Given the description of an element on the screen output the (x, y) to click on. 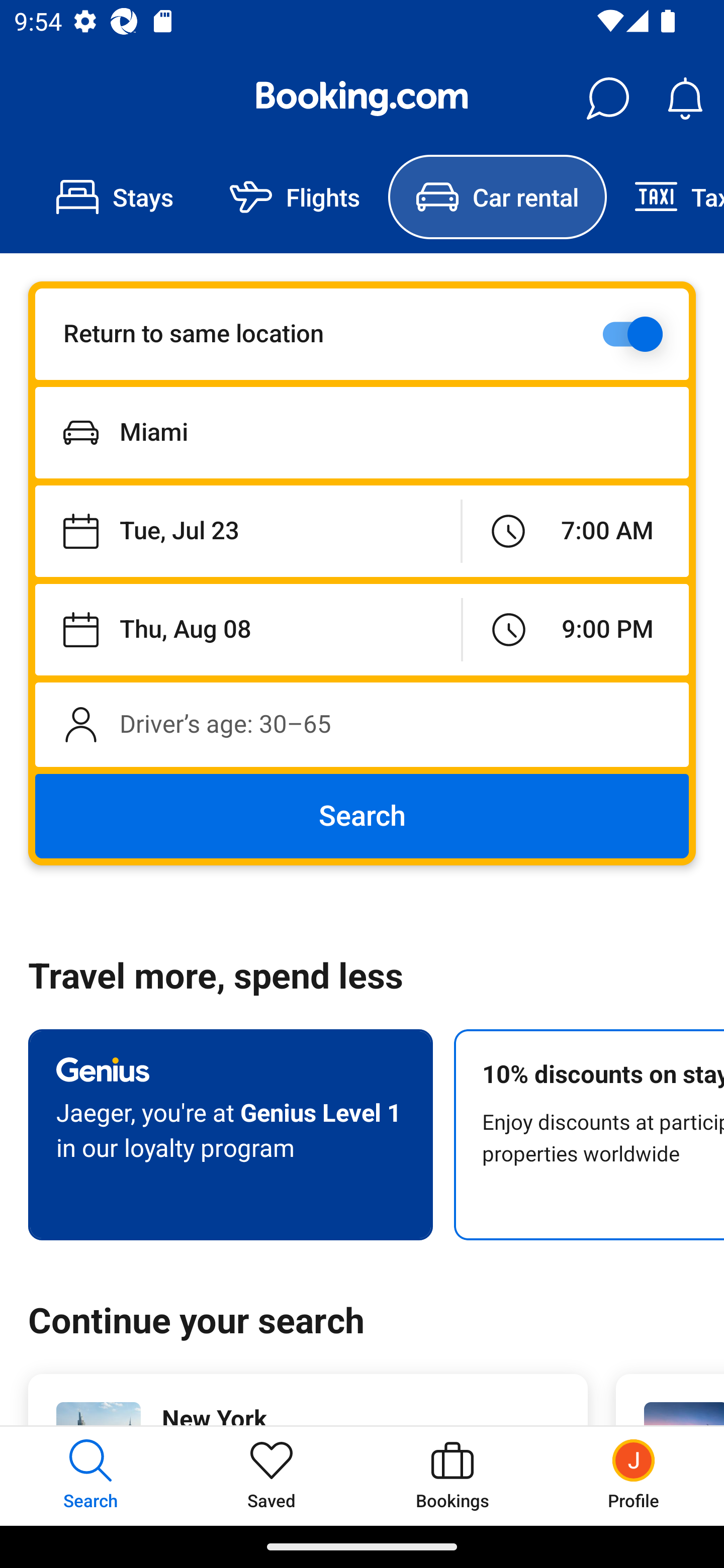
Messages (607, 98)
Notifications (685, 98)
Stays (114, 197)
Flights (294, 197)
Car rental (497, 197)
Taxi (665, 197)
Pick-up location: Text(name=Miami) (361, 432)
Pick-up date: 2024-07-23 (247, 531)
Pick-up time: 07:00:00.000 (575, 531)
Drop-off date: 2024-08-08 (248, 629)
Drop-off time: 21:00:00.000 (575, 629)
Enter the driver's age (361, 724)
Search (361, 815)
Saved (271, 1475)
Bookings (452, 1475)
Profile (633, 1475)
